Given the description of an element on the screen output the (x, y) to click on. 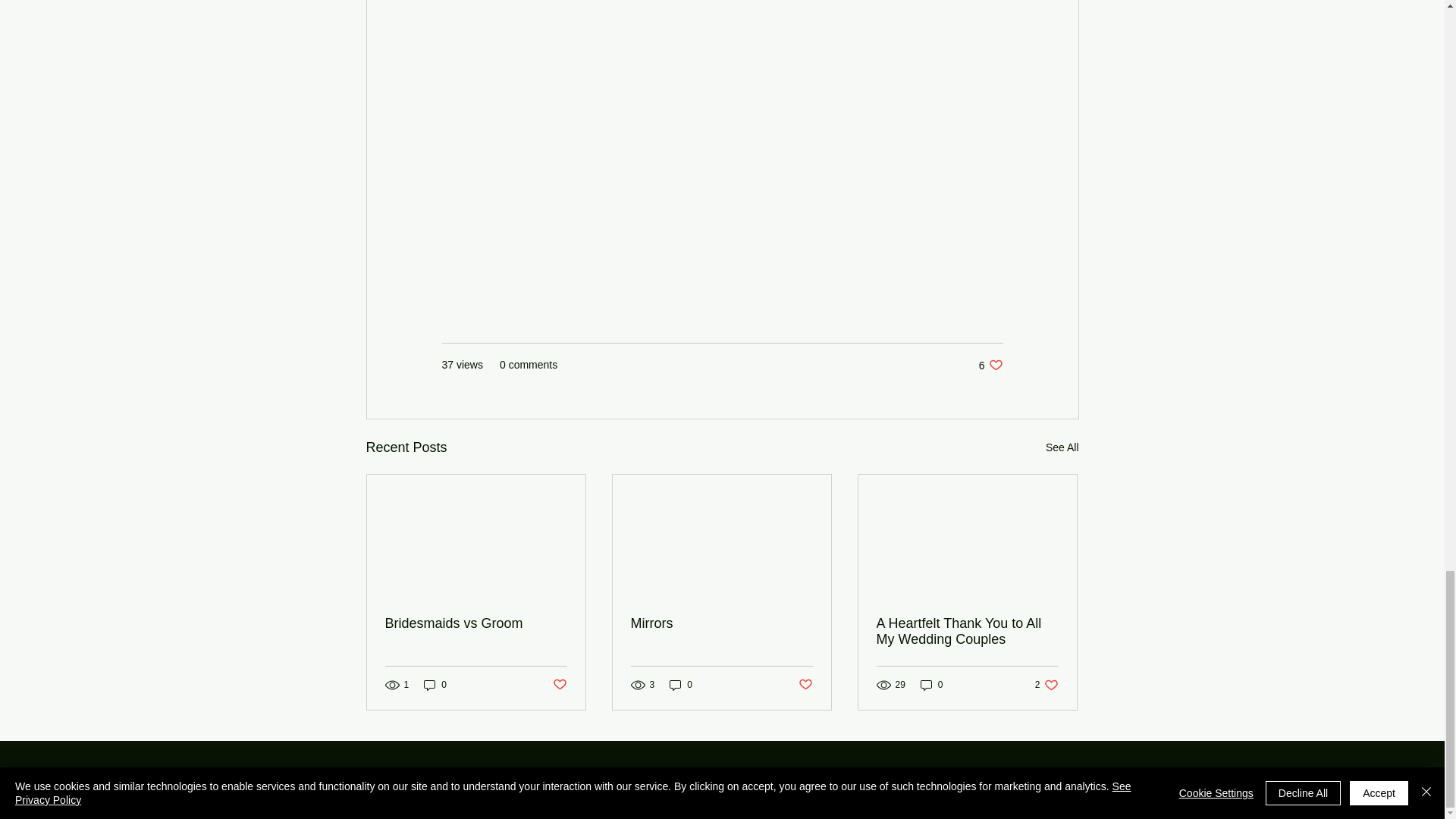
Mirrors (721, 623)
A Heartfelt Thank You to All My Wedding Couples (967, 631)
0 (931, 685)
See All (1061, 447)
0 (681, 685)
Bridesmaids vs Groom (1046, 685)
Back to Top (476, 623)
Post not marked as liked (721, 797)
